Given the description of an element on the screen output the (x, y) to click on. 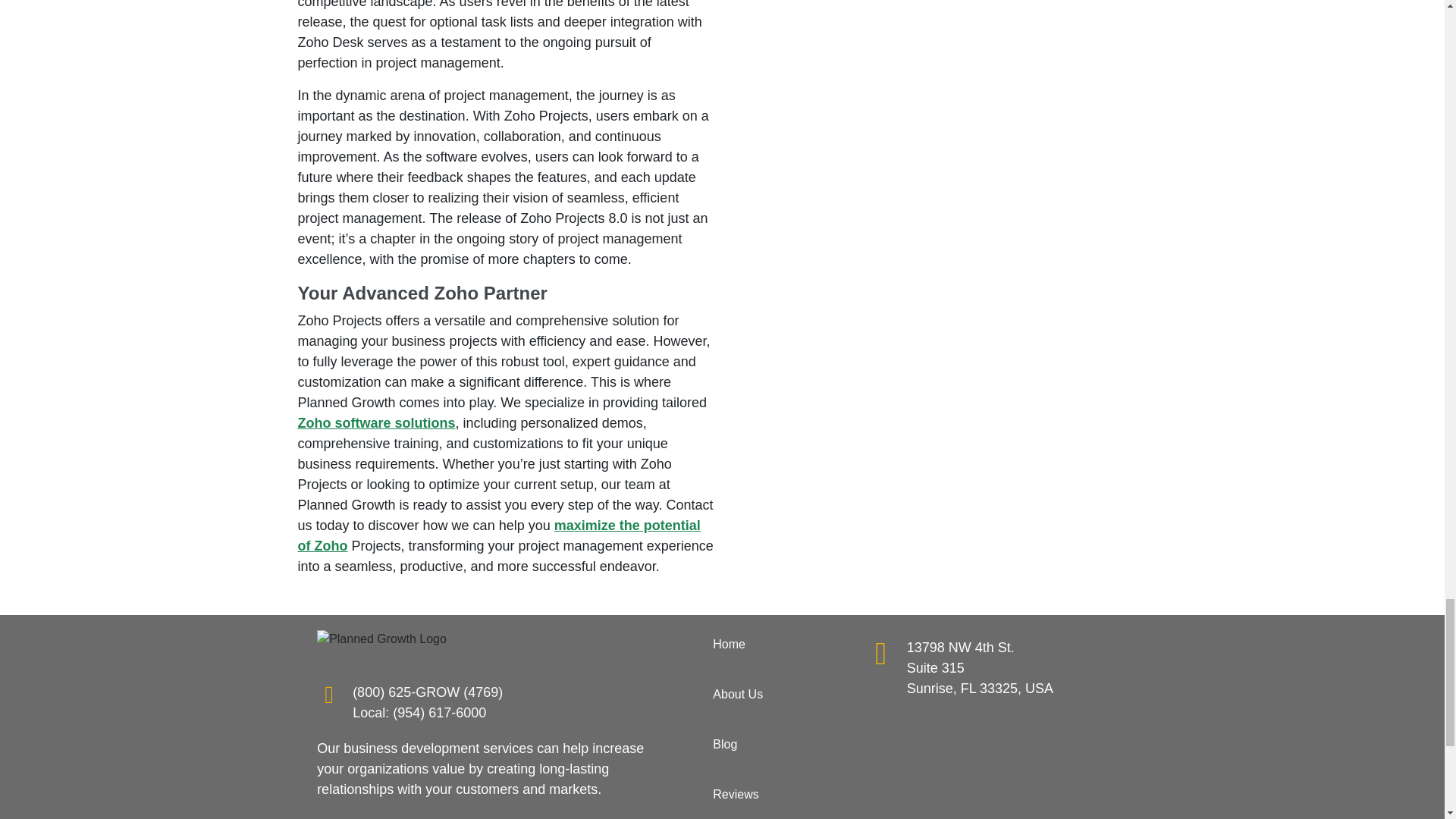
13798 NW 4th St. Suite 315 Sunrise, FL 33325 (991, 766)
Zoho software solutions (375, 422)
maximize the potential of Zoho (498, 535)
